Given the description of an element on the screen output the (x, y) to click on. 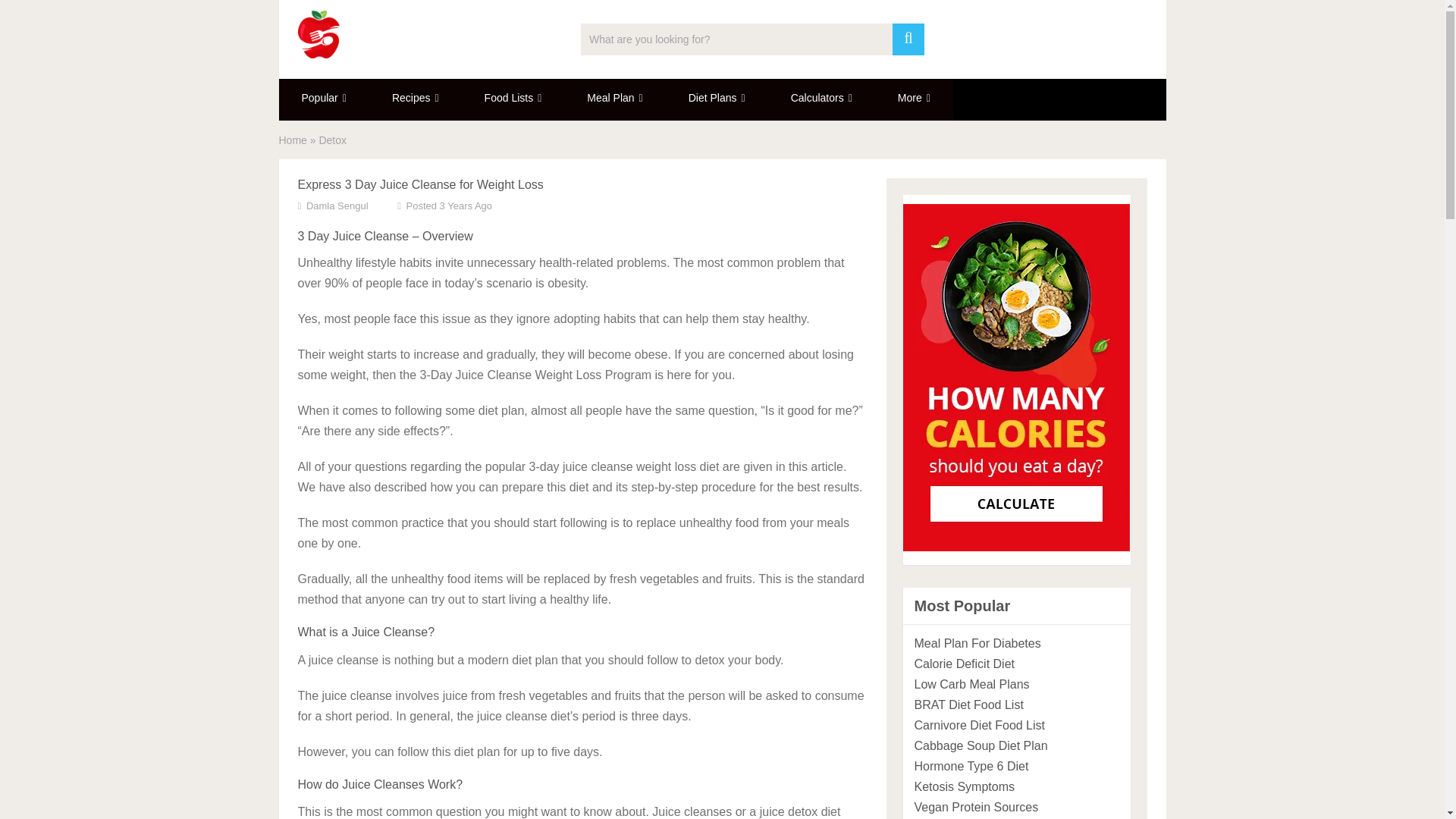
Posts by Damla Sengul (336, 205)
Food Lists (512, 99)
Popular (324, 99)
Recipes (415, 99)
